Given the description of an element on the screen output the (x, y) to click on. 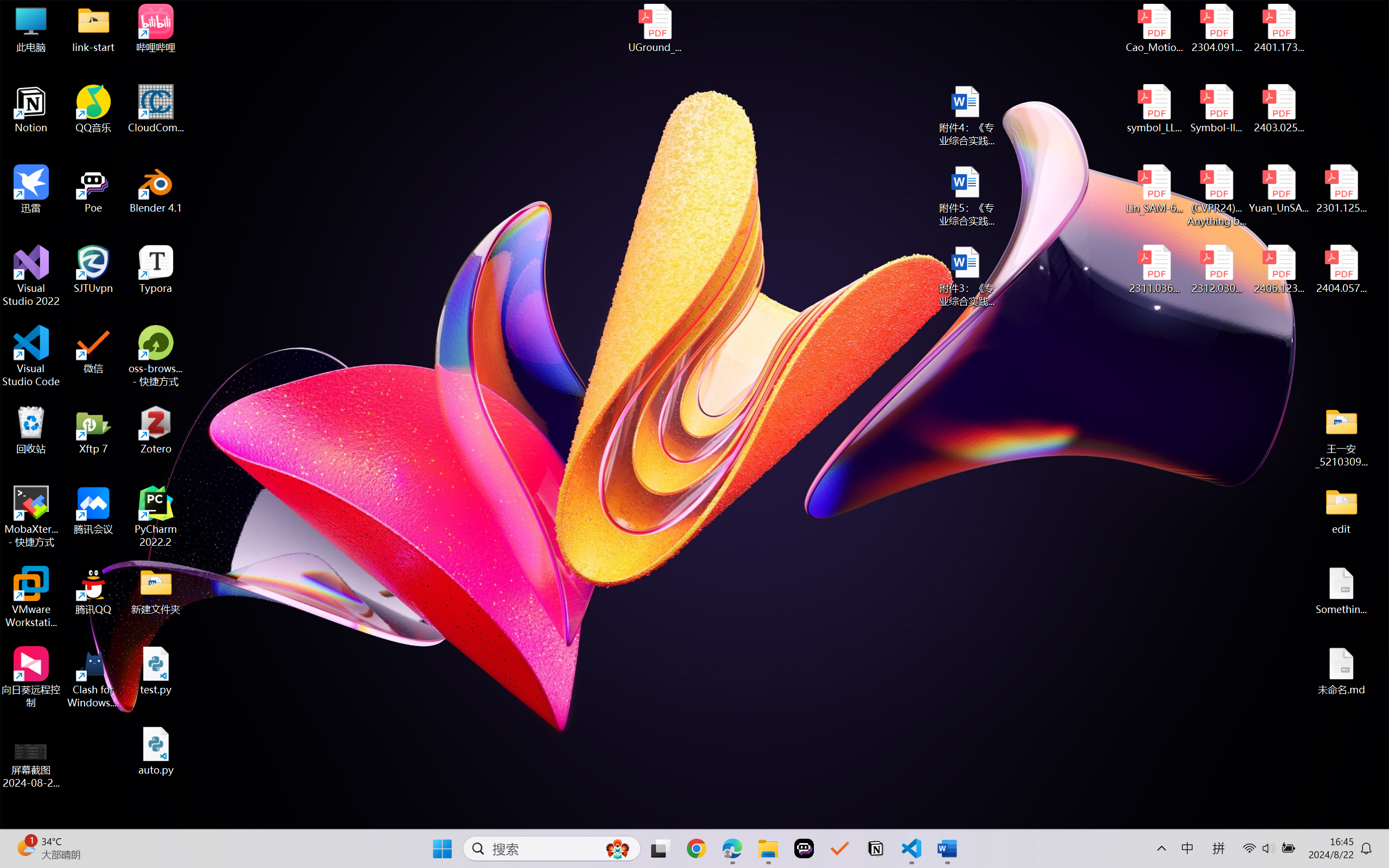
CloudCompare (156, 109)
auto.py (156, 751)
Visual Studio Code (31, 355)
2406.12373v2.pdf (1278, 269)
2311.03658v2.pdf (1154, 269)
2301.12597v3.pdf (1340, 189)
